Given the description of an element on the screen output the (x, y) to click on. 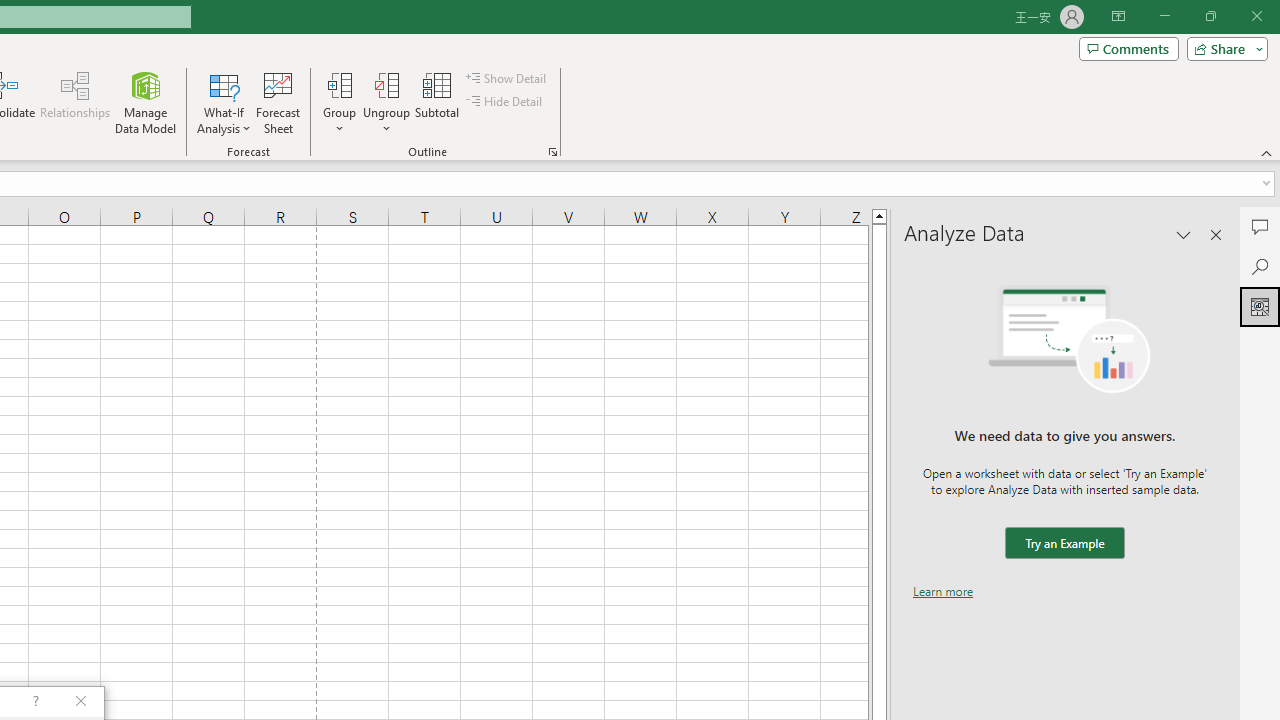
Close pane (1215, 234)
Group... (339, 84)
Task Pane Options (1183, 234)
What-If Analysis (223, 102)
Forecast Sheet (278, 102)
Search (1260, 266)
Analyze Data (1260, 306)
Learn more (943, 591)
